Given the description of an element on the screen output the (x, y) to click on. 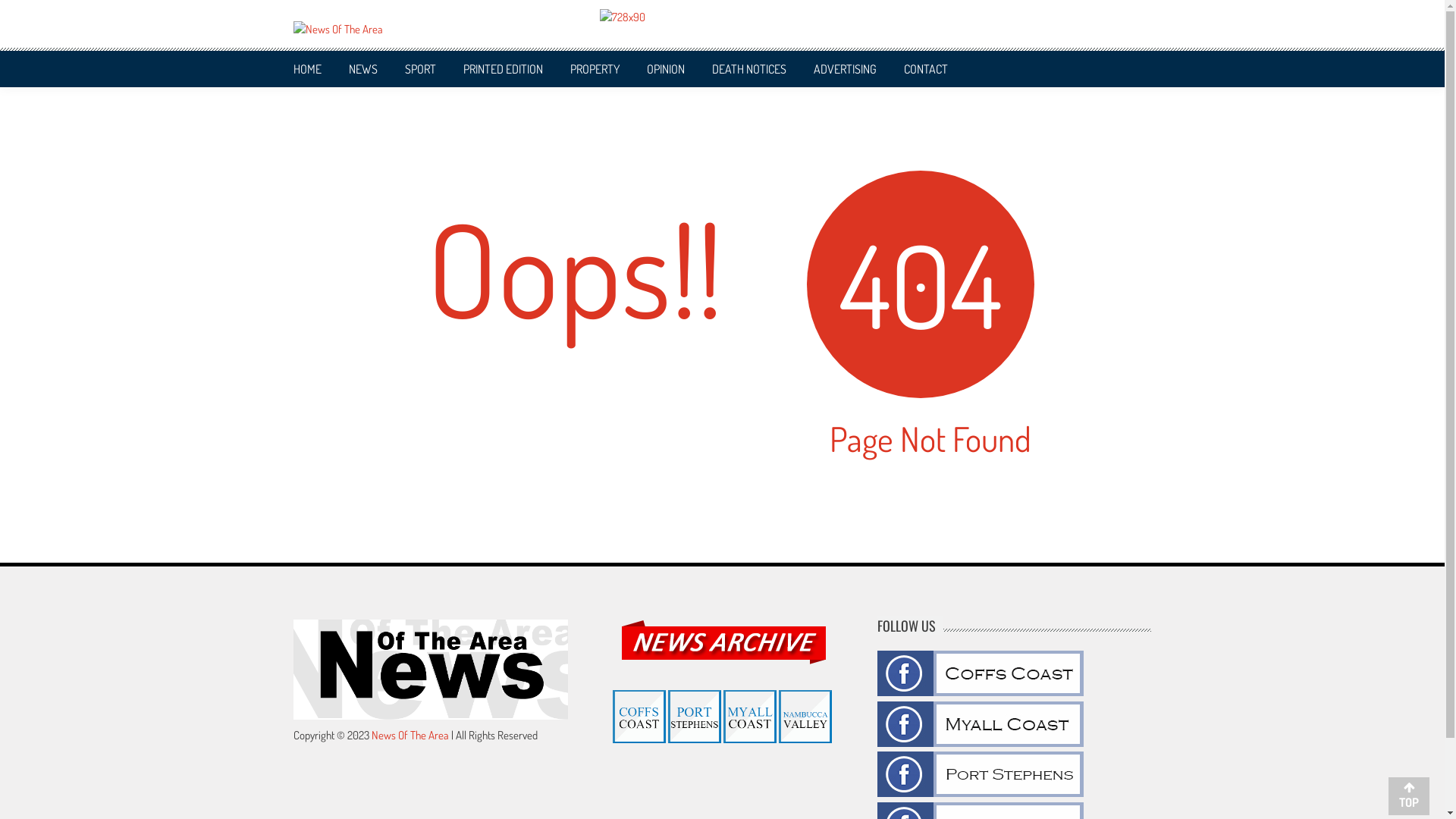
TOP Element type: text (1408, 795)
PROPERTY Element type: text (594, 67)
PRINTED EDITION Element type: text (502, 67)
DEATH NOTICES Element type: text (748, 67)
HOME Element type: text (306, 67)
OPINION Element type: text (665, 67)
CONTACT Element type: text (925, 67)
ADVERTISING Element type: text (843, 67)
News Of The Area Element type: text (409, 735)
NEWS Element type: text (362, 67)
SPORT Element type: text (420, 67)
